Given the description of an element on the screen output the (x, y) to click on. 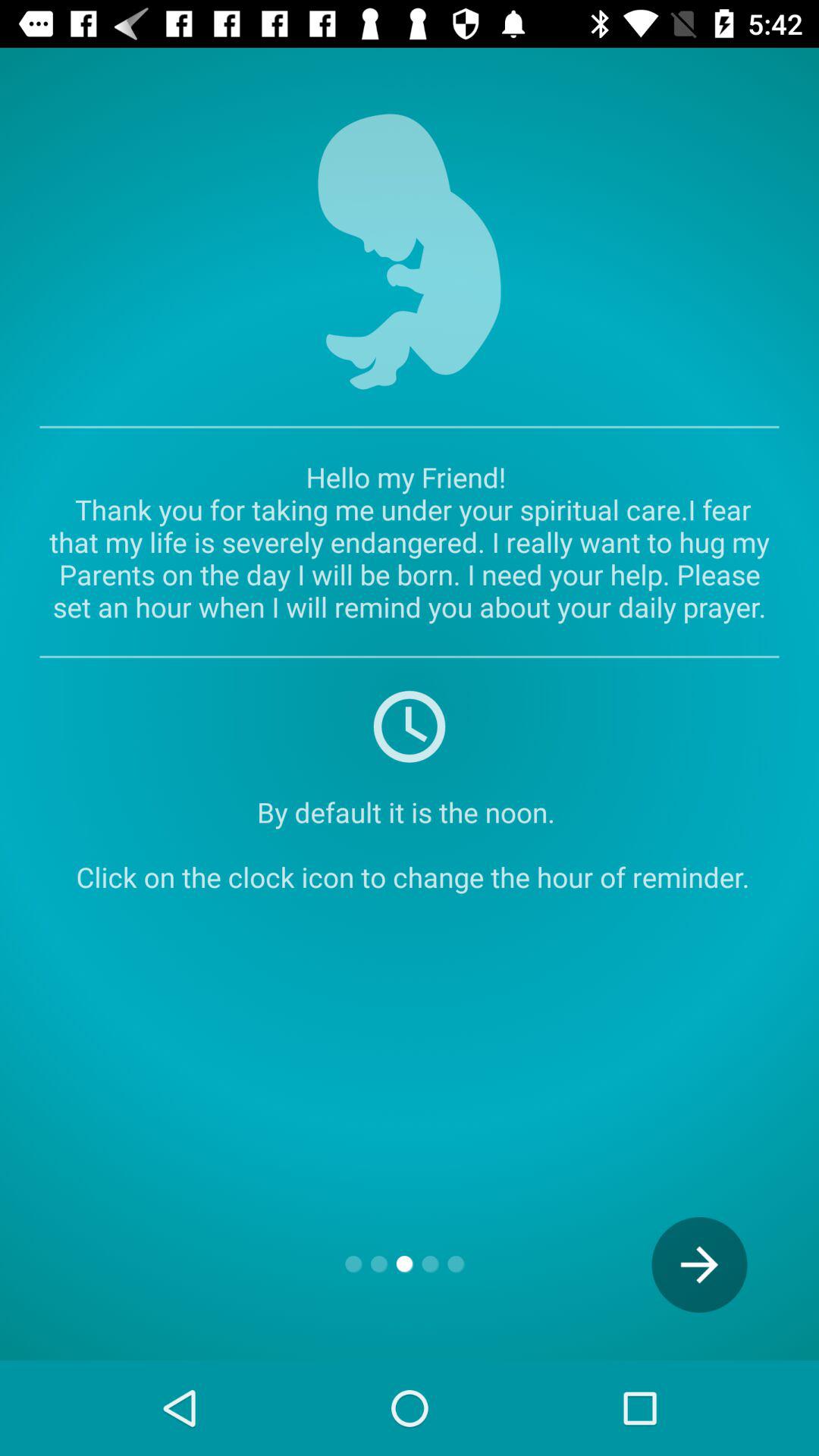
click the icon above the by default it icon (409, 725)
